Given the description of an element on the screen output the (x, y) to click on. 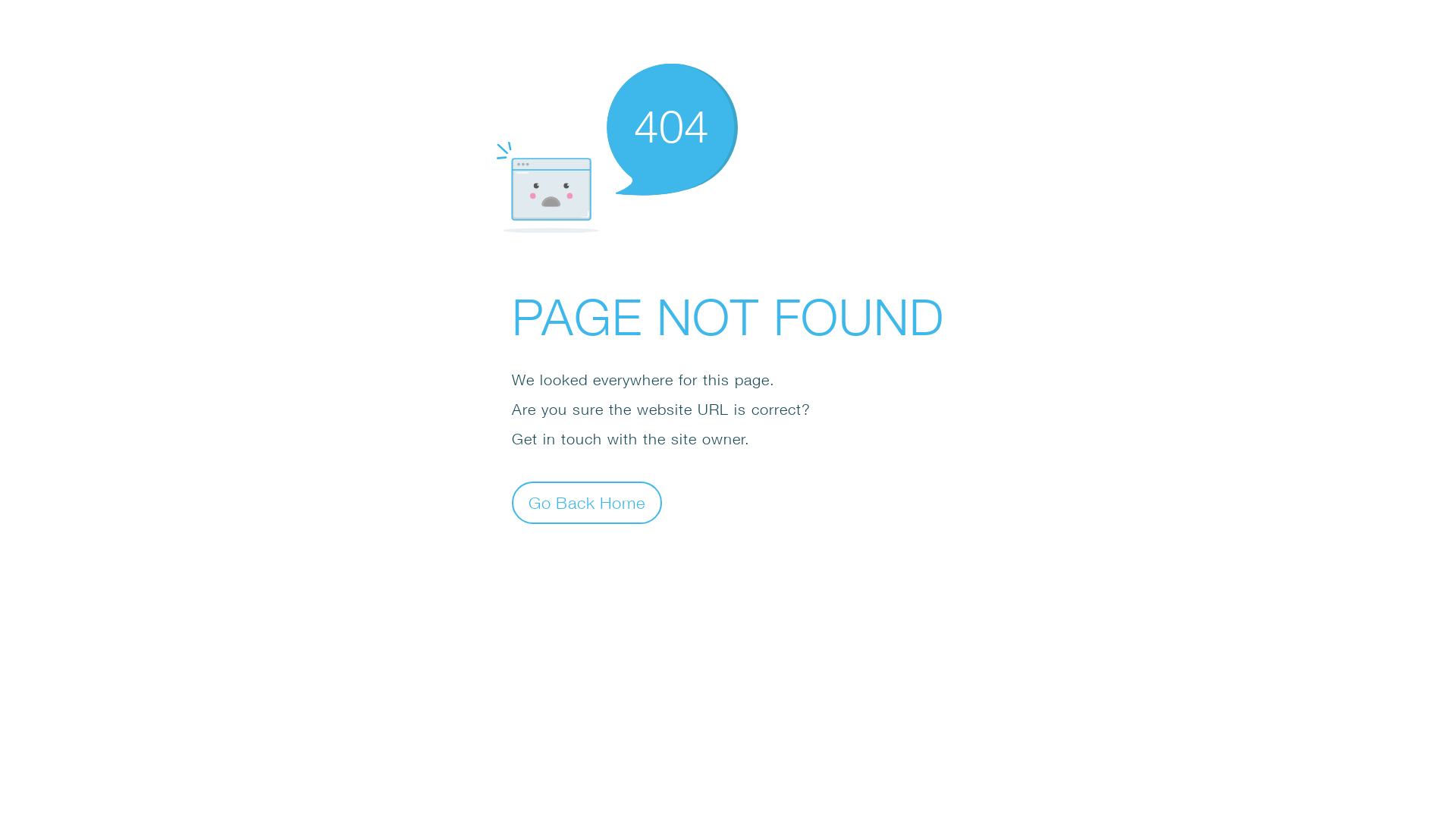
Go Back Home Element type: text (586, 502)
